Given the description of an element on the screen output the (x, y) to click on. 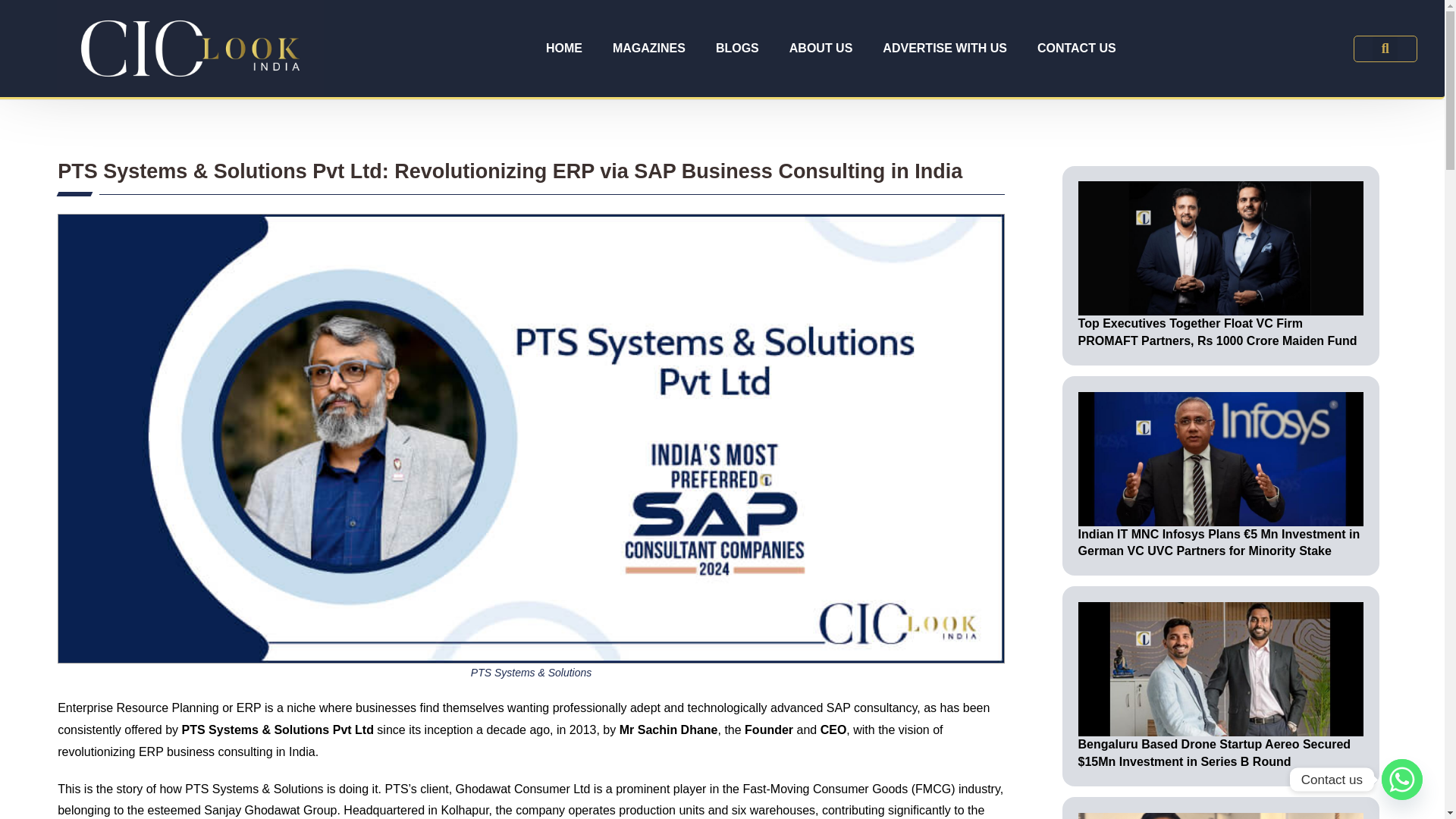
CONTACT US (1076, 48)
ADVERTISE WITH US (944, 48)
HOME (563, 48)
BLOGS (737, 48)
ABOUT US (820, 48)
MAGAZINES (648, 48)
